Given the description of an element on the screen output the (x, y) to click on. 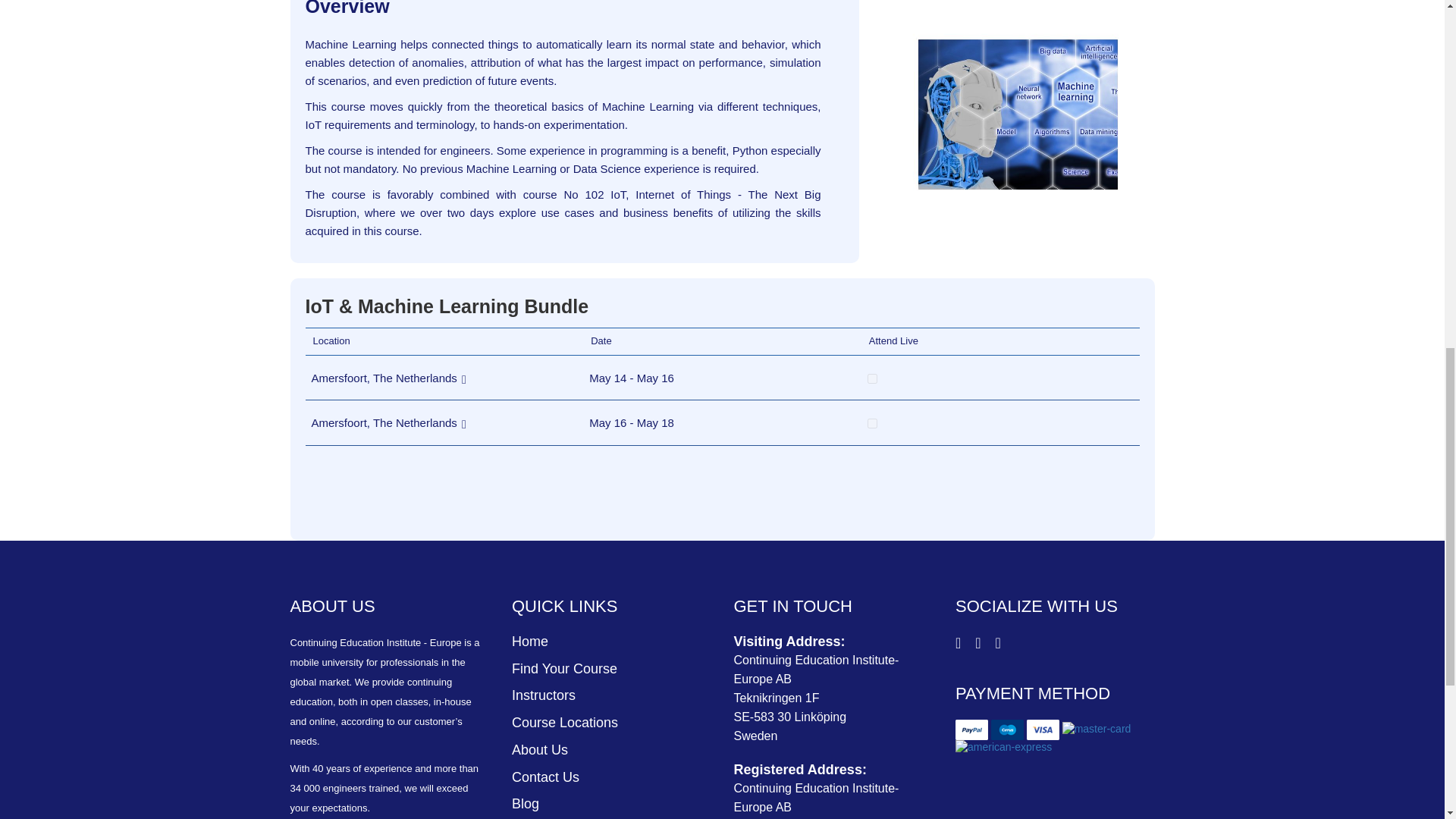
412 (872, 423)
Find Your Course (564, 668)
Contact Us (545, 776)
Instructors (543, 694)
Blog (525, 803)
Course Locations (564, 722)
About Us (539, 749)
Home (530, 641)
411 (872, 378)
